Given the description of an element on the screen output the (x, y) to click on. 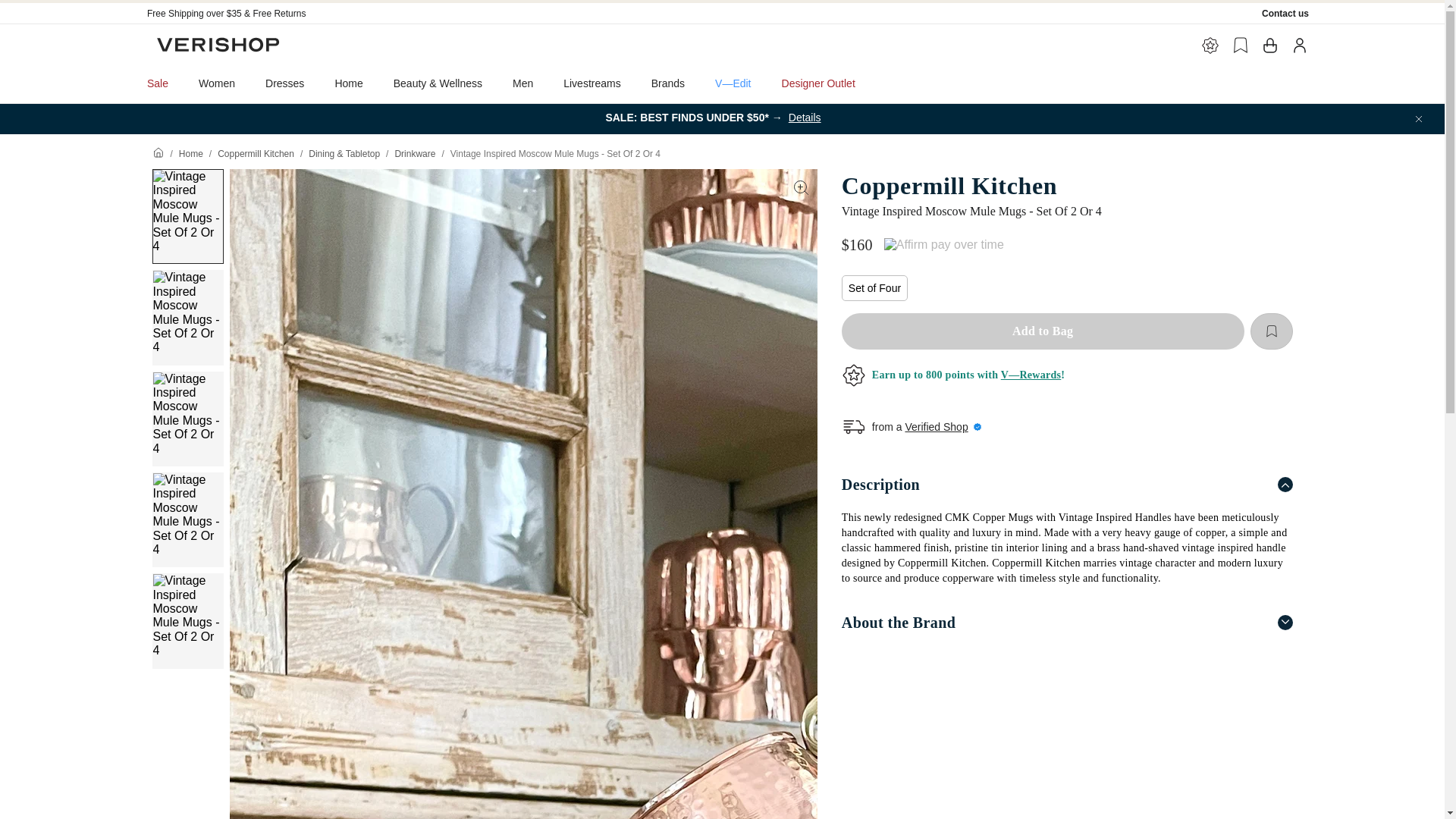
Dresses (284, 82)
Contact us (1285, 13)
Home (191, 153)
Coppermill Kitchen (255, 153)
Add to Bag (1042, 330)
Brands (668, 82)
Description (1066, 484)
skip to main content (53, 6)
Livestreams (591, 82)
Coppermill Kitchen (1066, 185)
